Given the description of an element on the screen output the (x, y) to click on. 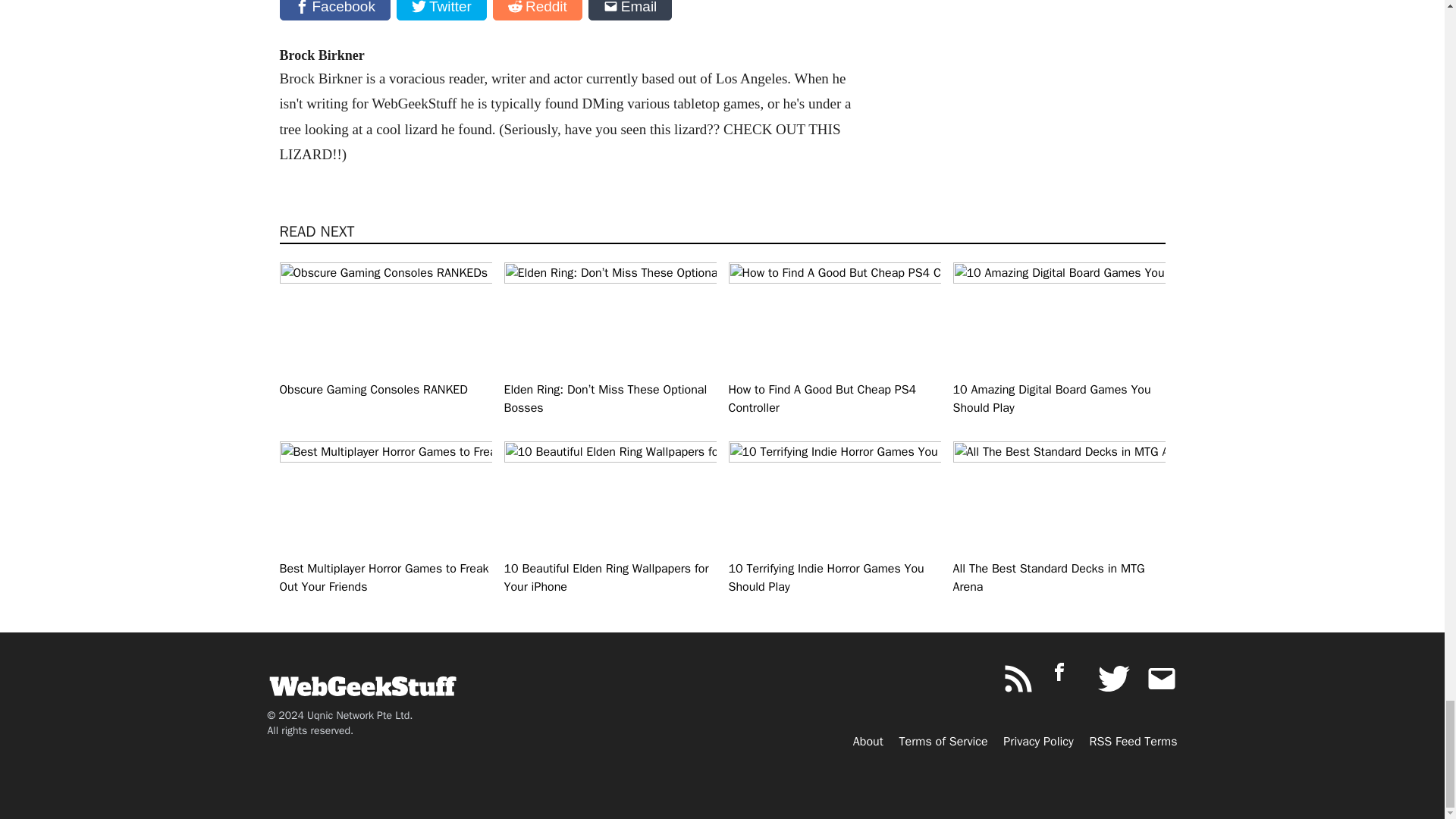
About (868, 741)
10 Terrifying Indie Horror Games You Should Play (834, 517)
Reddit (537, 10)
Share this article in Twitter (441, 10)
Facebook (334, 10)
10 Amazing Digital Board Games You Should Play (1058, 338)
Twitter (441, 10)
Email (630, 10)
Share this article in Reddit (537, 10)
10 Beautiful Elden Ring Wallpapers for Your iPhone (609, 517)
